Given the description of an element on the screen output the (x, y) to click on. 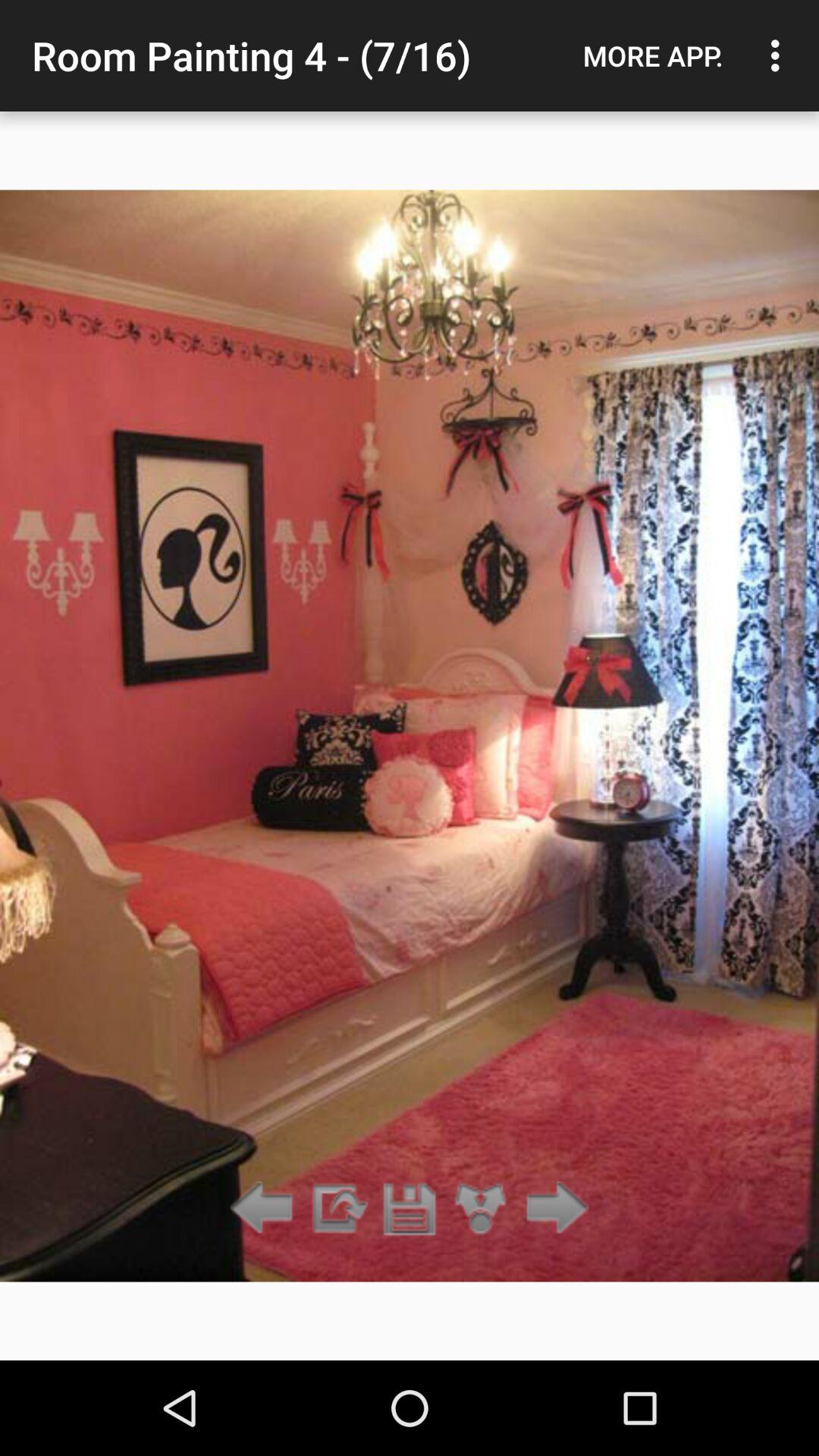
go back (266, 1209)
